Given the description of an element on the screen output the (x, y) to click on. 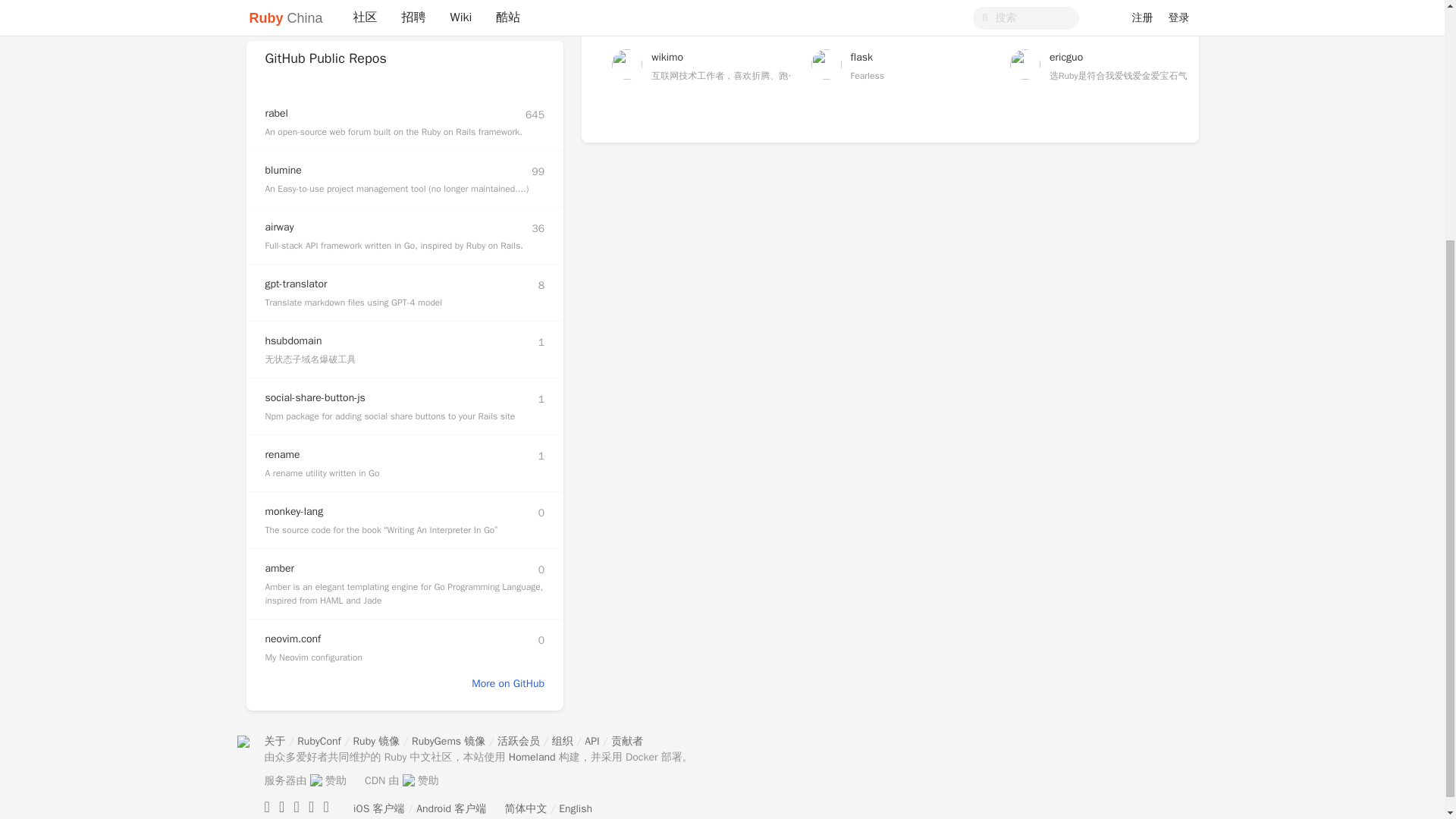
rabel (276, 113)
amber (279, 567)
monkey-lang (293, 511)
More on GitHub (507, 683)
neovim.conf (292, 638)
rename (281, 454)
airway (279, 226)
hsubdomain (292, 340)
gpt-translator (295, 283)
blumine (282, 169)
social-share-button-js (314, 397)
645 Watchers (534, 114)
